Given the description of an element on the screen output the (x, y) to click on. 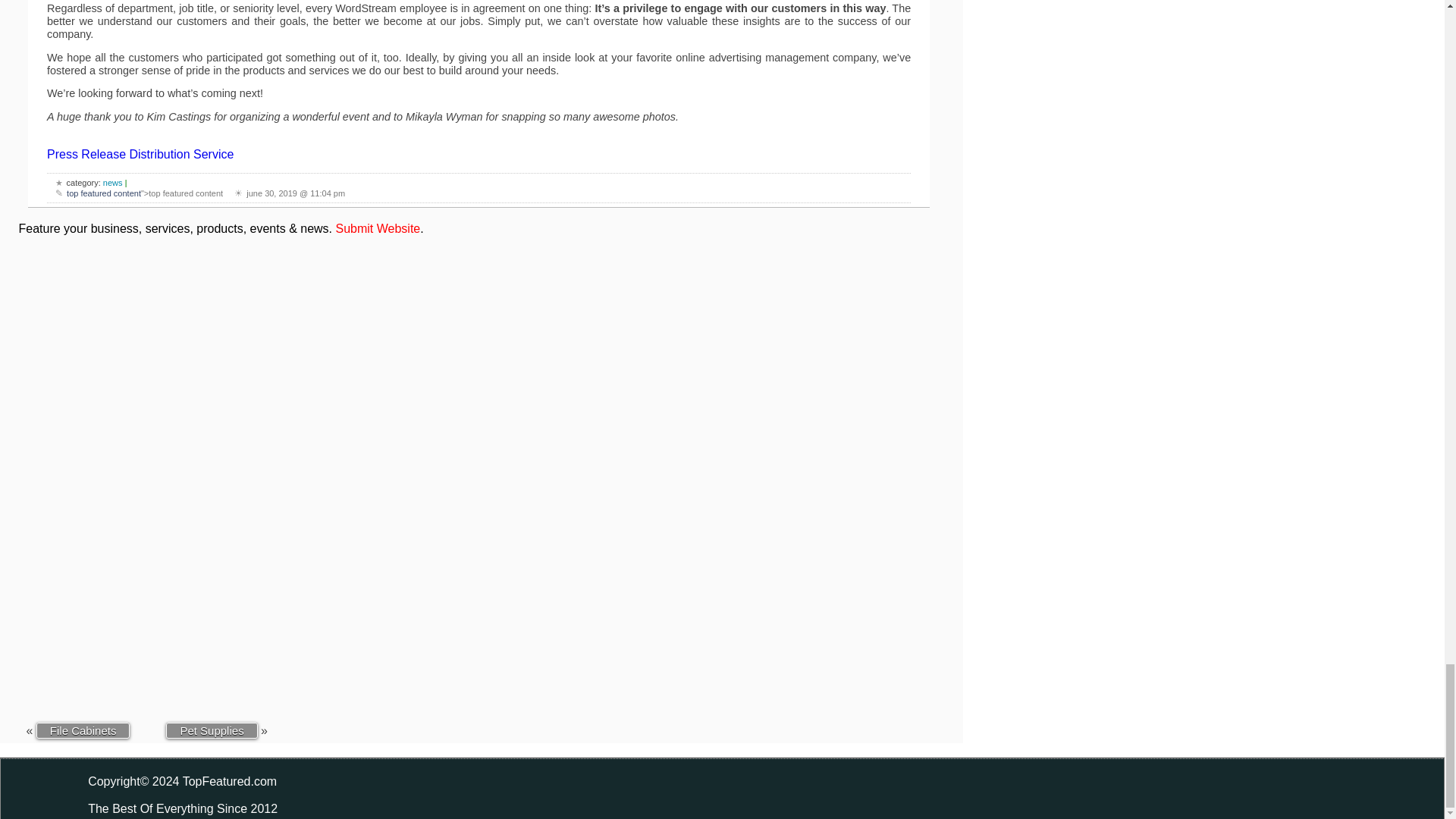
Pet Supplies (211, 730)
top featured content (103, 193)
news (112, 182)
Press Release Distribution Service (139, 154)
Submit Website (377, 228)
File Cabinets (83, 730)
